Given the description of an element on the screen output the (x, y) to click on. 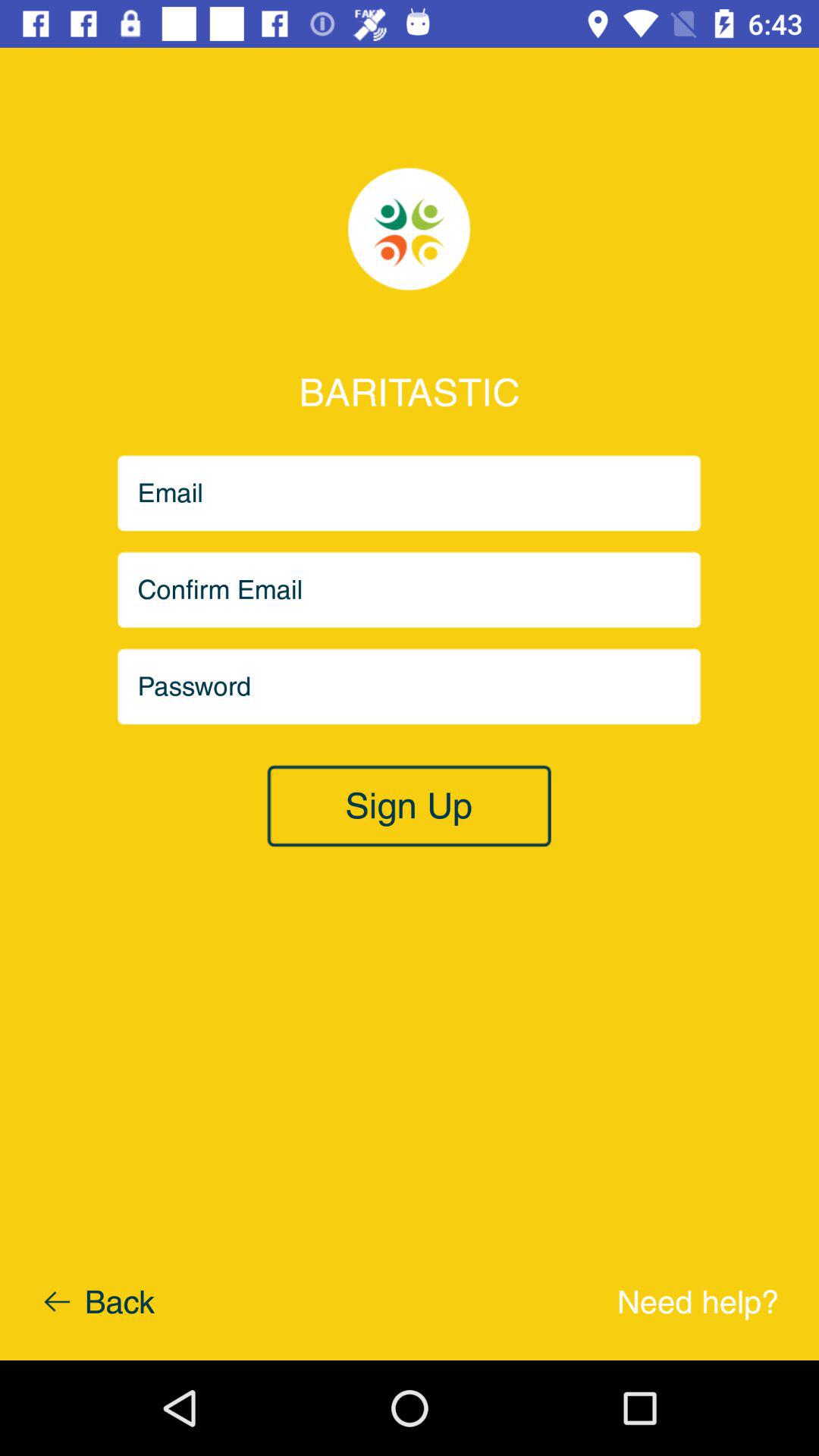
enter the confirm email (409, 589)
